Given the description of an element on the screen output the (x, y) to click on. 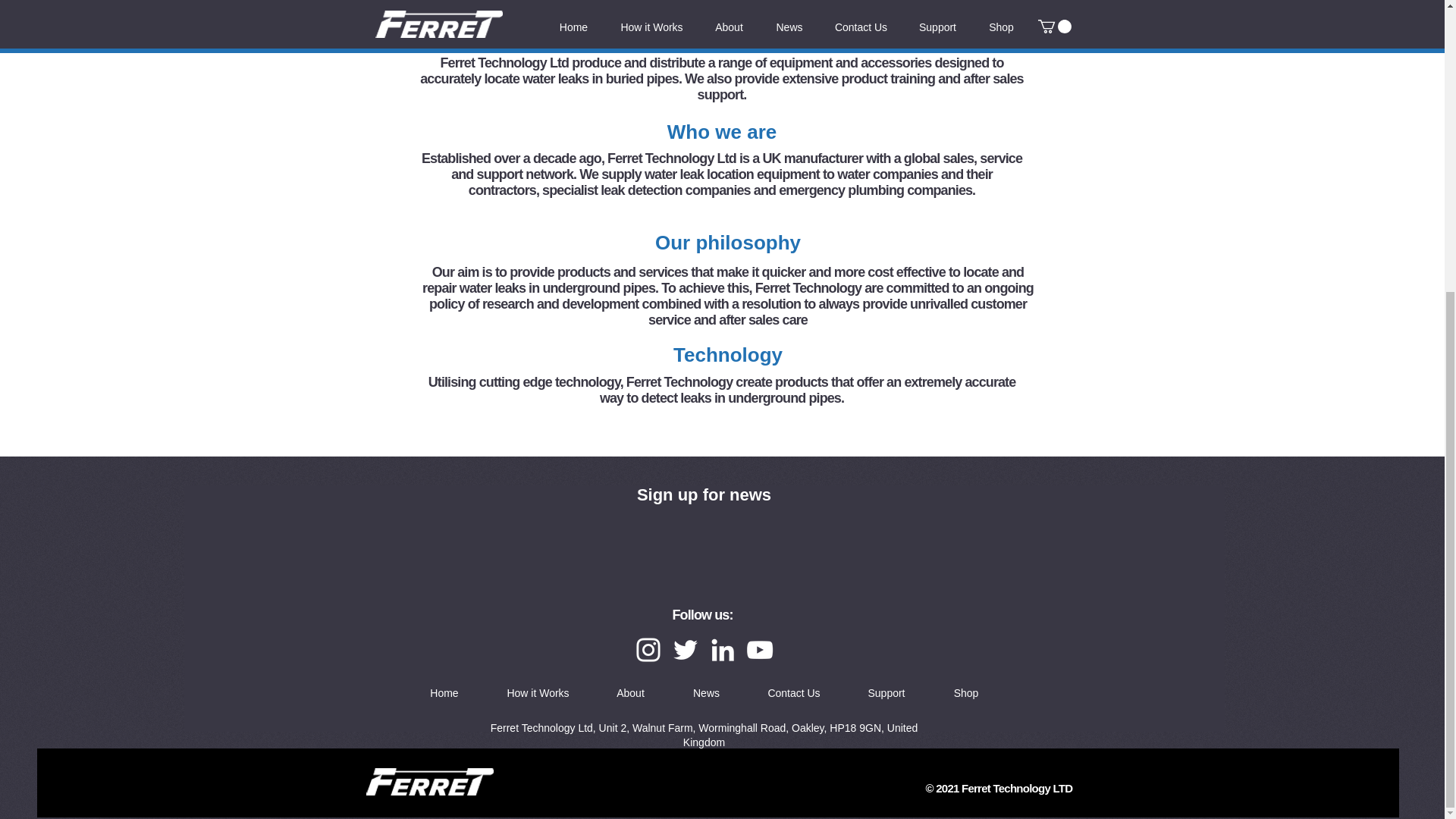
Contact Us (794, 692)
News (706, 692)
About (630, 692)
How it Works (537, 692)
Home (443, 692)
Support (885, 692)
